Given the description of an element on the screen output the (x, y) to click on. 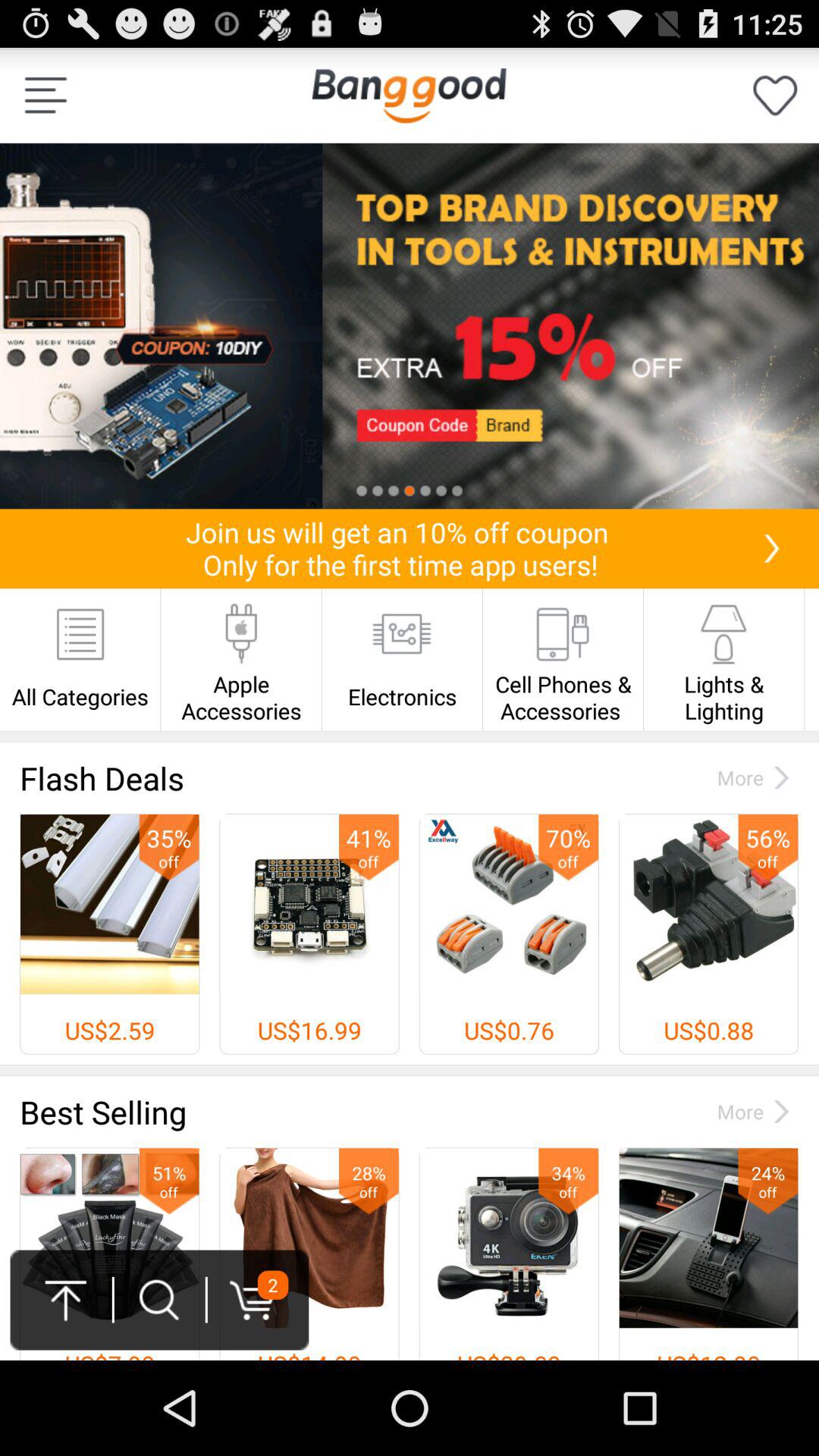
more option button (45, 95)
